Given the description of an element on the screen output the (x, y) to click on. 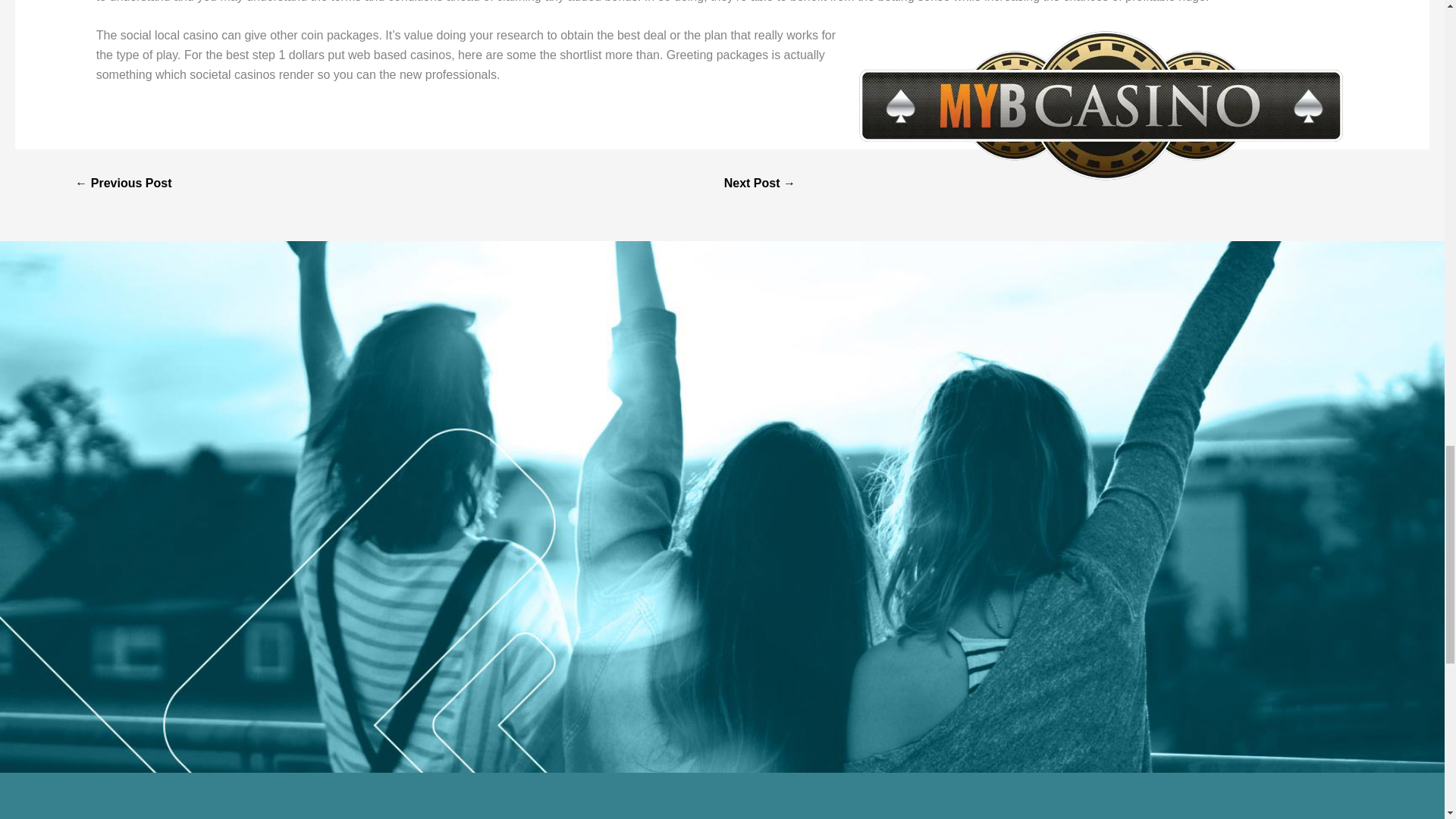
Book Of Ra Freispiele 2024 Hol Sie Dir Letter Gratis (122, 183)
